Given the description of an element on the screen output the (x, y) to click on. 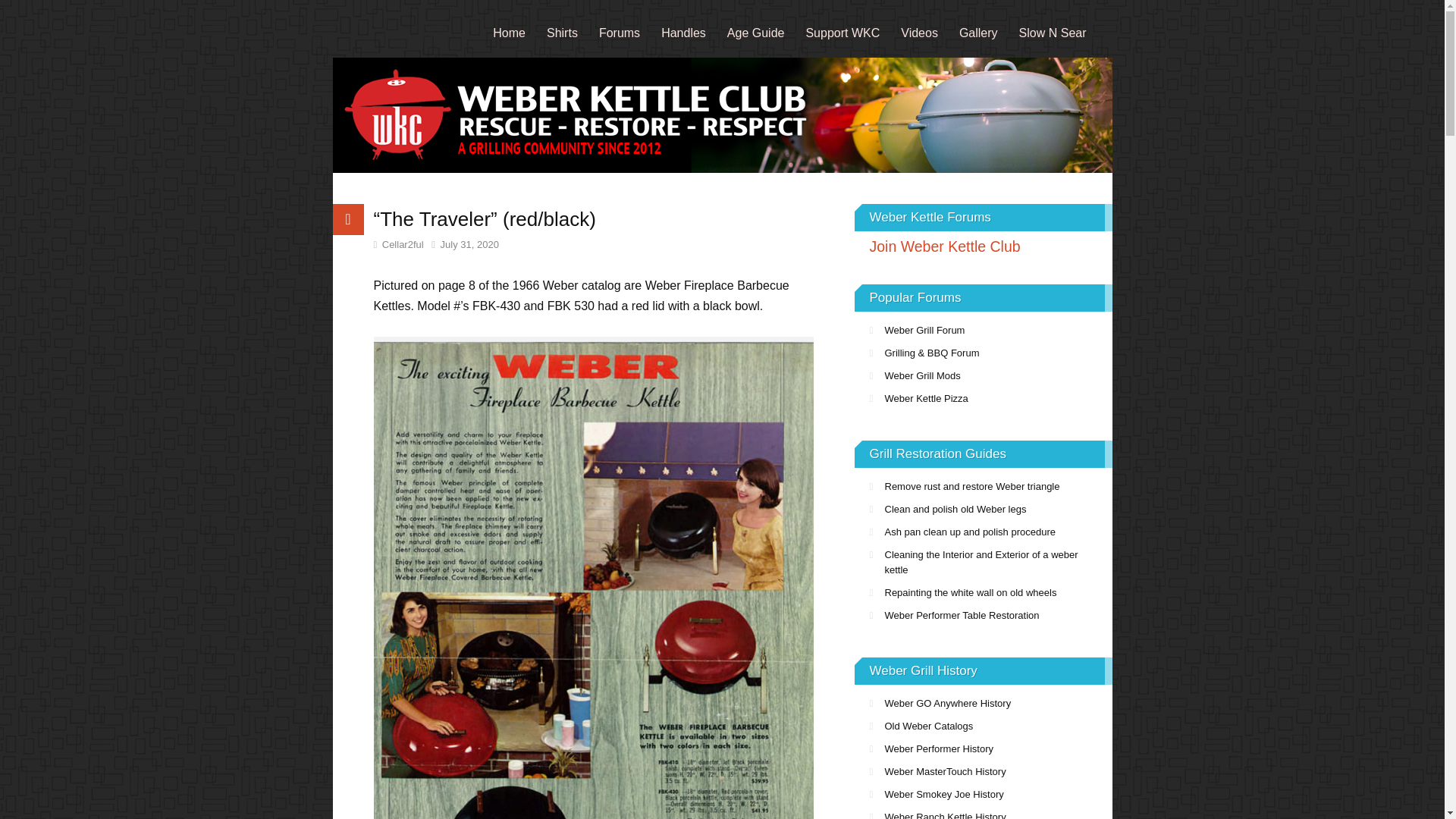
Age Guide (755, 32)
Videos (919, 32)
Remove rust and restore Weber triangle (982, 486)
Join Weber Kettle Club (982, 246)
Repainting the white wall on old wheels (982, 592)
2020-07-31 (464, 244)
Handles (683, 32)
Weber Grill Mods (982, 375)
Weber Performer Table Restoration (982, 615)
Shirts (561, 32)
